Given the description of an element on the screen output the (x, y) to click on. 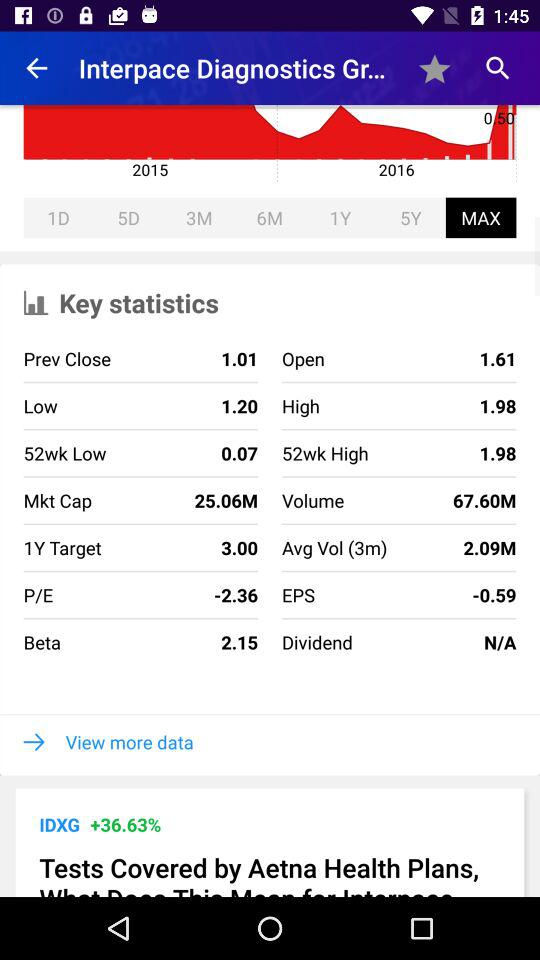
click the item next to interpace diagnostics group (36, 68)
